Given the description of an element on the screen output the (x, y) to click on. 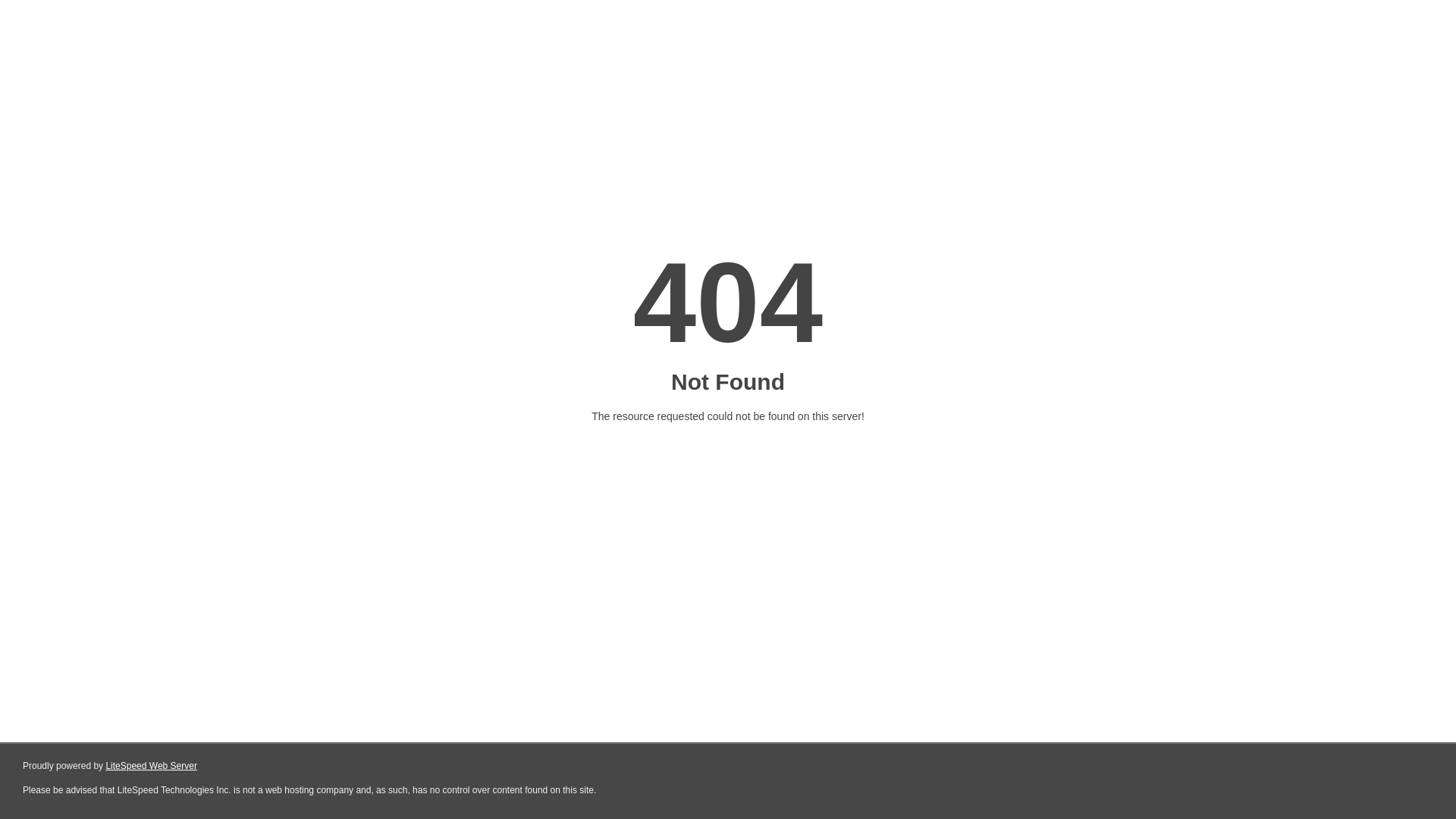
LiteSpeed Web Server Element type: text (151, 765)
